Given the description of an element on the screen output the (x, y) to click on. 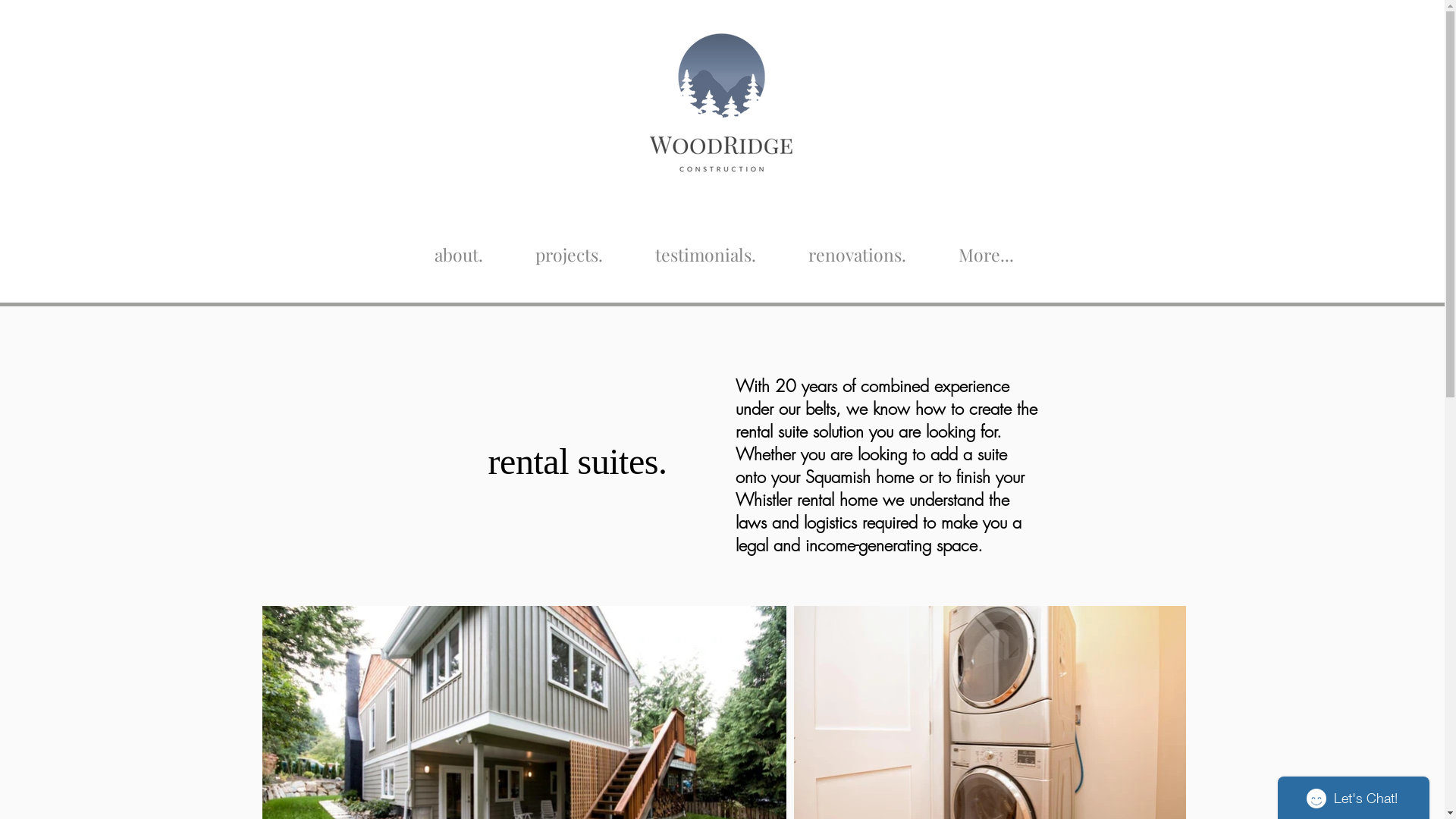
about. Element type: text (458, 247)
testimonials. Element type: text (705, 247)
renovations. Element type: text (857, 247)
projects. Element type: text (569, 247)
